Given the description of an element on the screen output the (x, y) to click on. 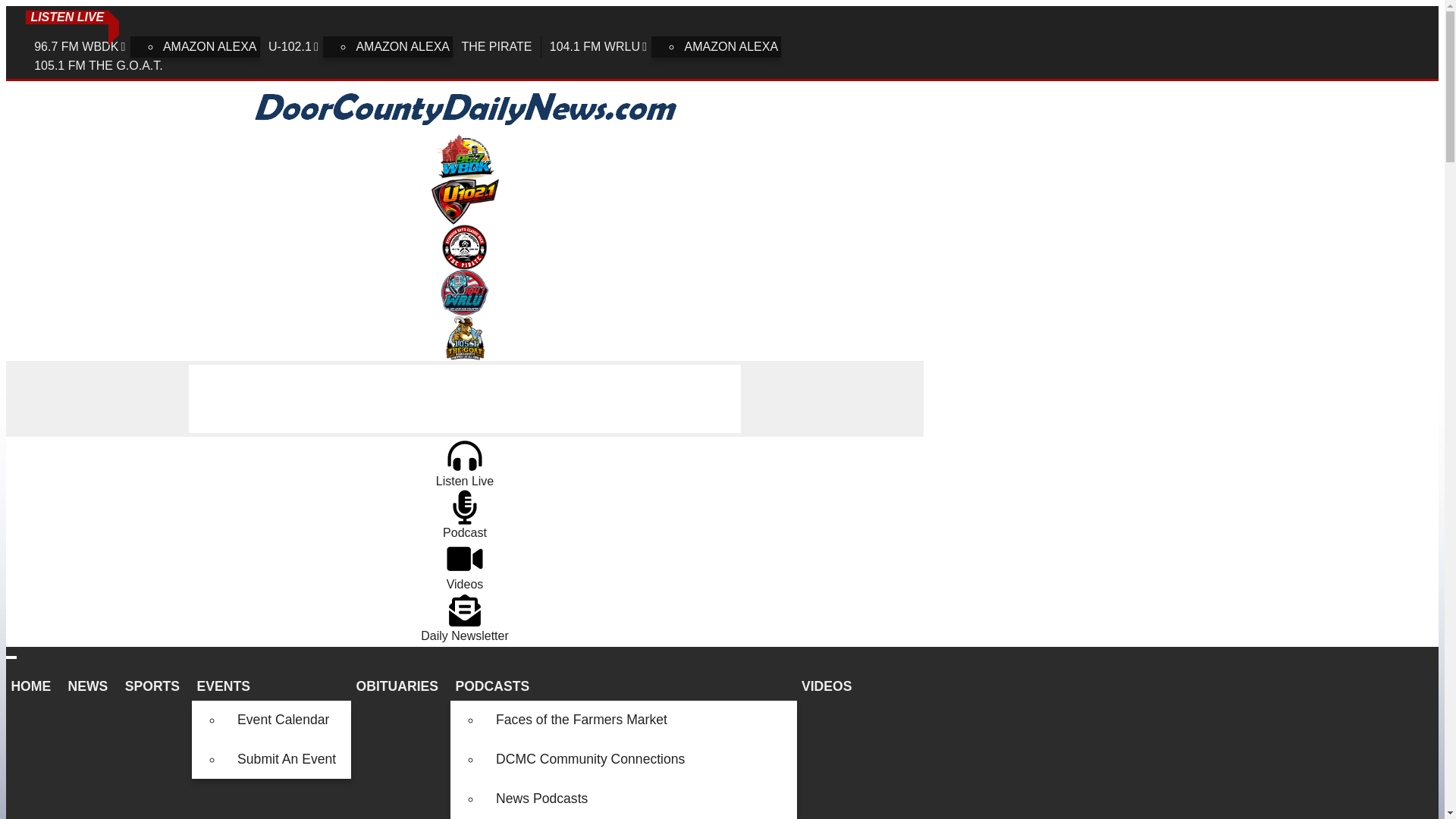
96.7 FM WBDK (81, 46)
THE PIRATE (496, 46)
Event Calendar (286, 720)
U-102.1 (294, 46)
NEWS (90, 686)
EVENTS (271, 686)
OBITUARIES (399, 686)
AMAZON ALEXA (209, 46)
AMAZON ALEXA (730, 46)
DCMC Community Connections (638, 759)
Faces of the Farmers Market (638, 720)
Submit An Event (286, 759)
News Podcasts (638, 798)
HOME (33, 686)
PODCASTS (622, 686)
